Given the description of an element on the screen output the (x, y) to click on. 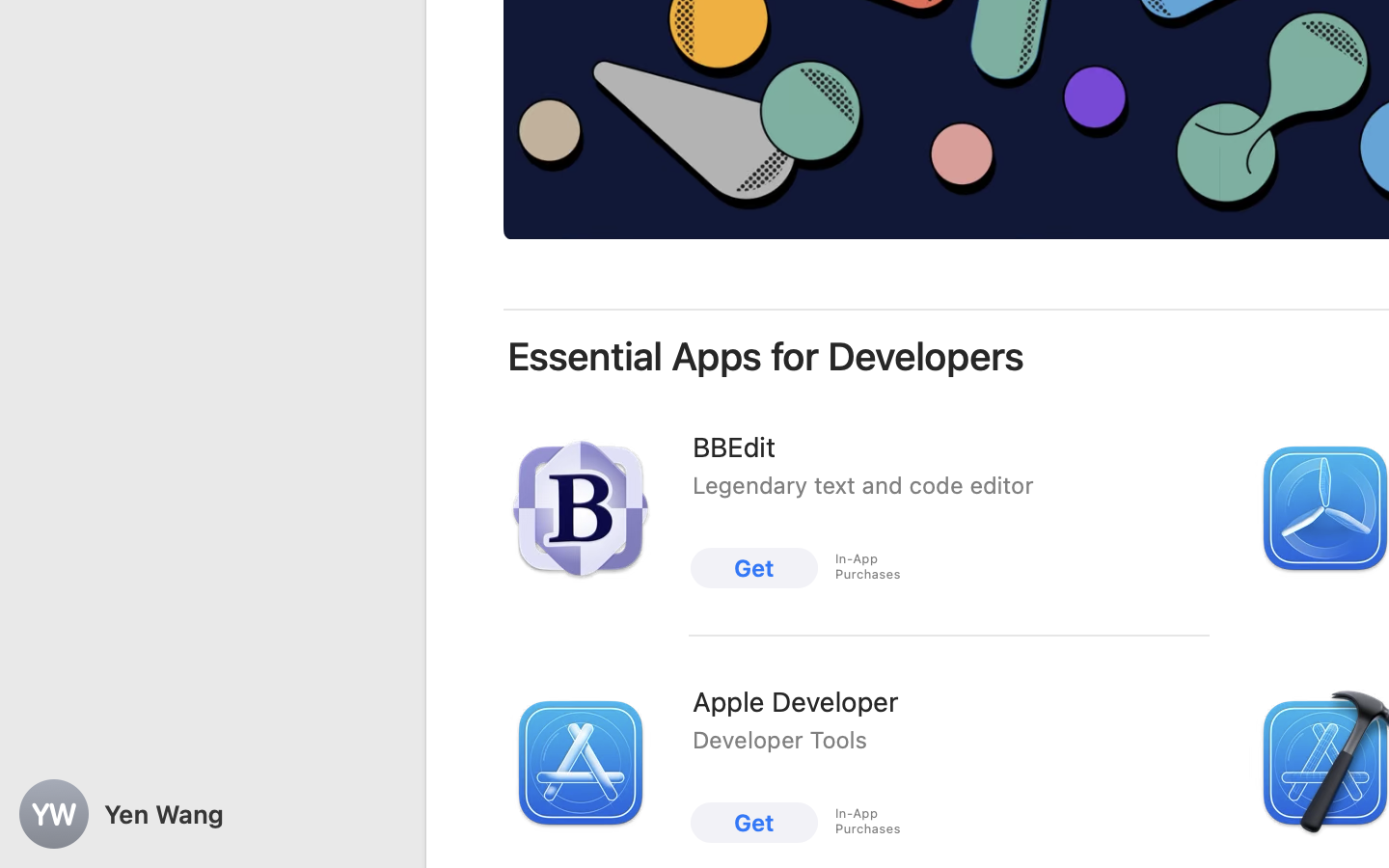
Essential Apps for Developers Element type: AXStaticText (765, 356)
Yen Wang Element type: AXButton (212, 813)
